Given the description of an element on the screen output the (x, y) to click on. 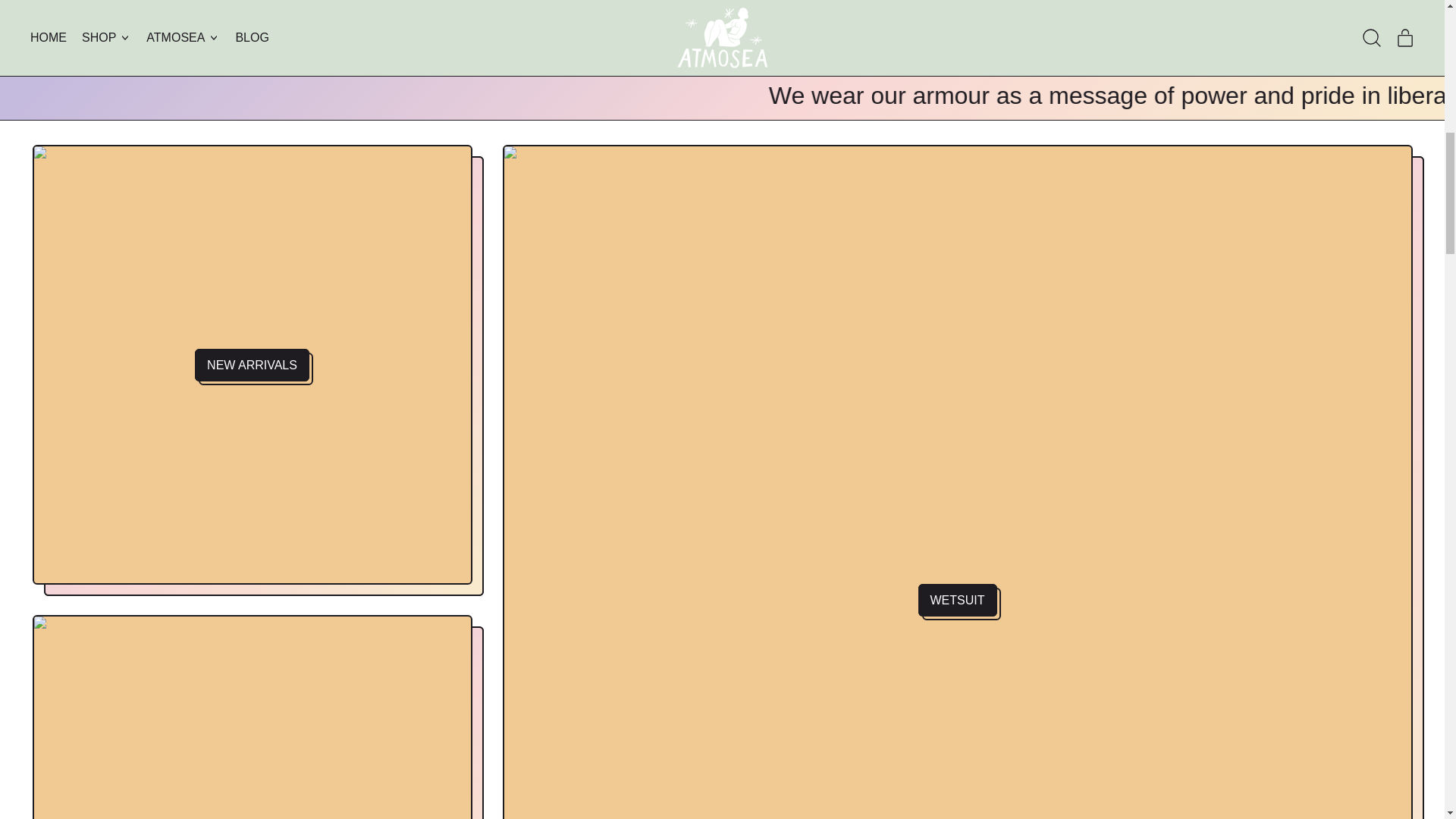
ALL PRODUCTS (251, 717)
